Given the description of an element on the screen output the (x, y) to click on. 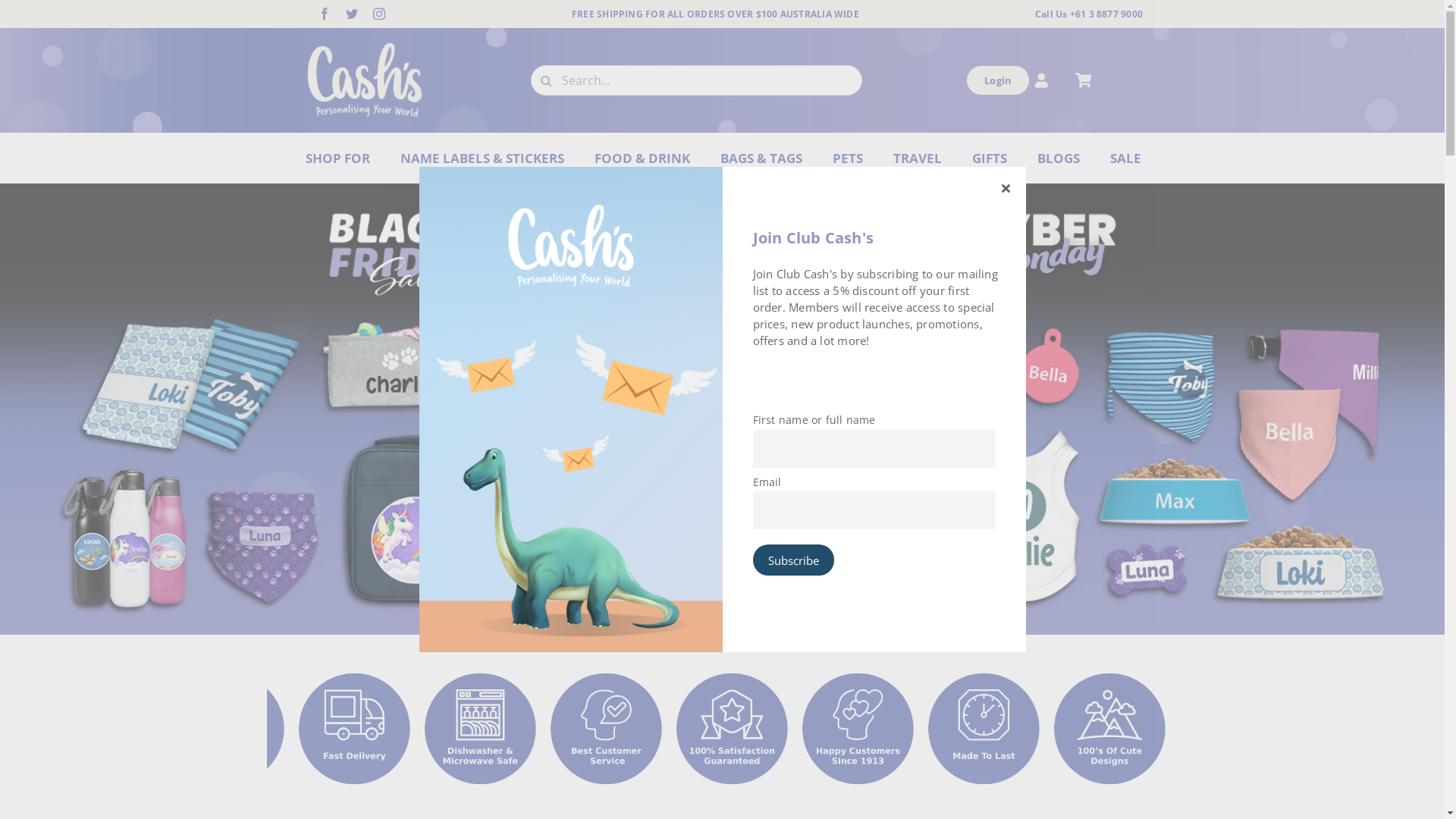
Facebook Element type: hover (324, 13)
Subscribe Element type: text (792, 559)
SHOP FOR Element type: text (337, 158)
FOOD & DRINK Element type: text (642, 158)
PETS Element type: text (847, 158)
Twitter Element type: hover (351, 13)
NAME LABELS & STICKERS Element type: text (482, 158)
Instagram Element type: hover (379, 13)
BAGS & TAGS Element type: text (761, 158)
Log In Element type: text (1003, 229)
GIFTS Element type: text (989, 158)
TRAVEL Element type: text (917, 158)
SALE Element type: text (1125, 158)
Call Us +61 3 8877 9000 Element type: text (1088, 13)
Login Element type: text (997, 79)
BLOGS Element type: text (1058, 158)
